Given the description of an element on the screen output the (x, y) to click on. 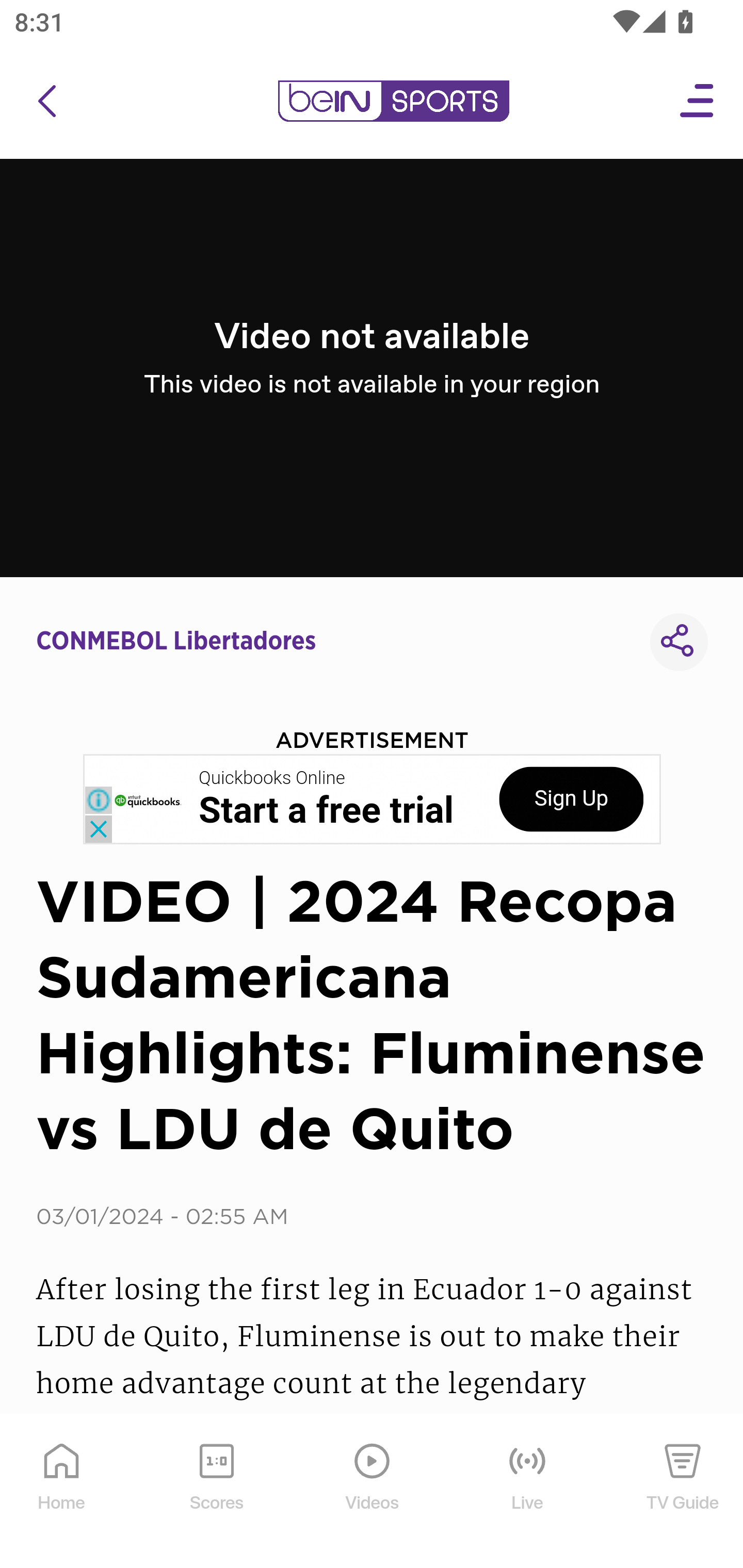
en-us?platform=mobile_android bein logo (392, 101)
icon back (46, 101)
Open Menu Icon (697, 101)
Quickbooks Online (272, 778)
Sign Up (571, 799)
Start a free trial (326, 810)
Home Home Icon Home (61, 1491)
Scores Scores Icon Scores (216, 1491)
Videos Videos Icon Videos (372, 1491)
TV Guide TV Guide Icon TV Guide (682, 1491)
